Given the description of an element on the screen output the (x, y) to click on. 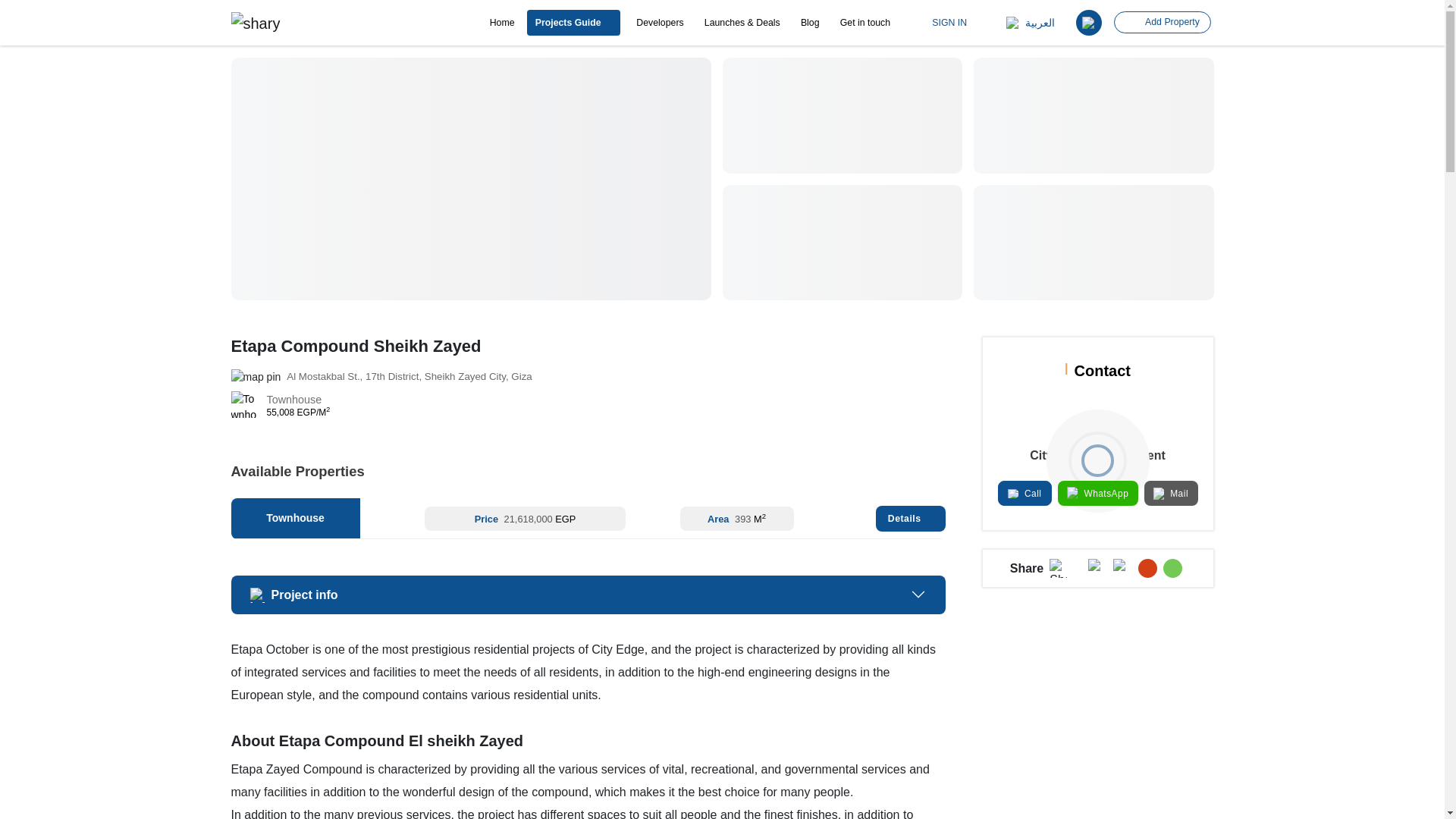
Projects Guide (573, 22)
SIGN IN (943, 22)
Blog (810, 22)
Get in touch (864, 22)
Add Property (1162, 22)
Project info (587, 594)
Developers (659, 22)
Home (501, 22)
Details (910, 518)
